Given the description of an element on the screen output the (x, y) to click on. 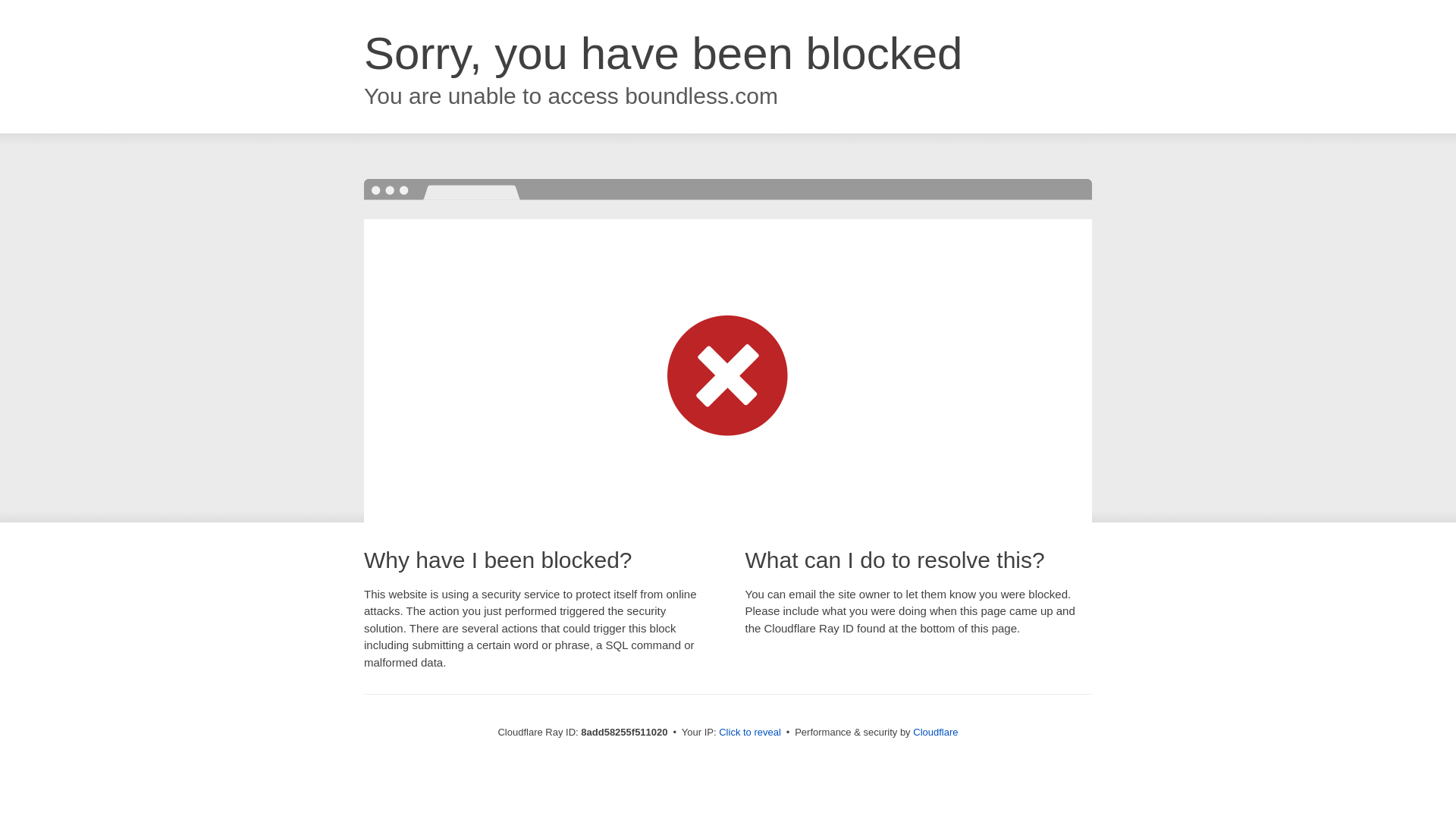
Cloudflare (935, 731)
Click to reveal (749, 732)
